Given the description of an element on the screen output the (x, y) to click on. 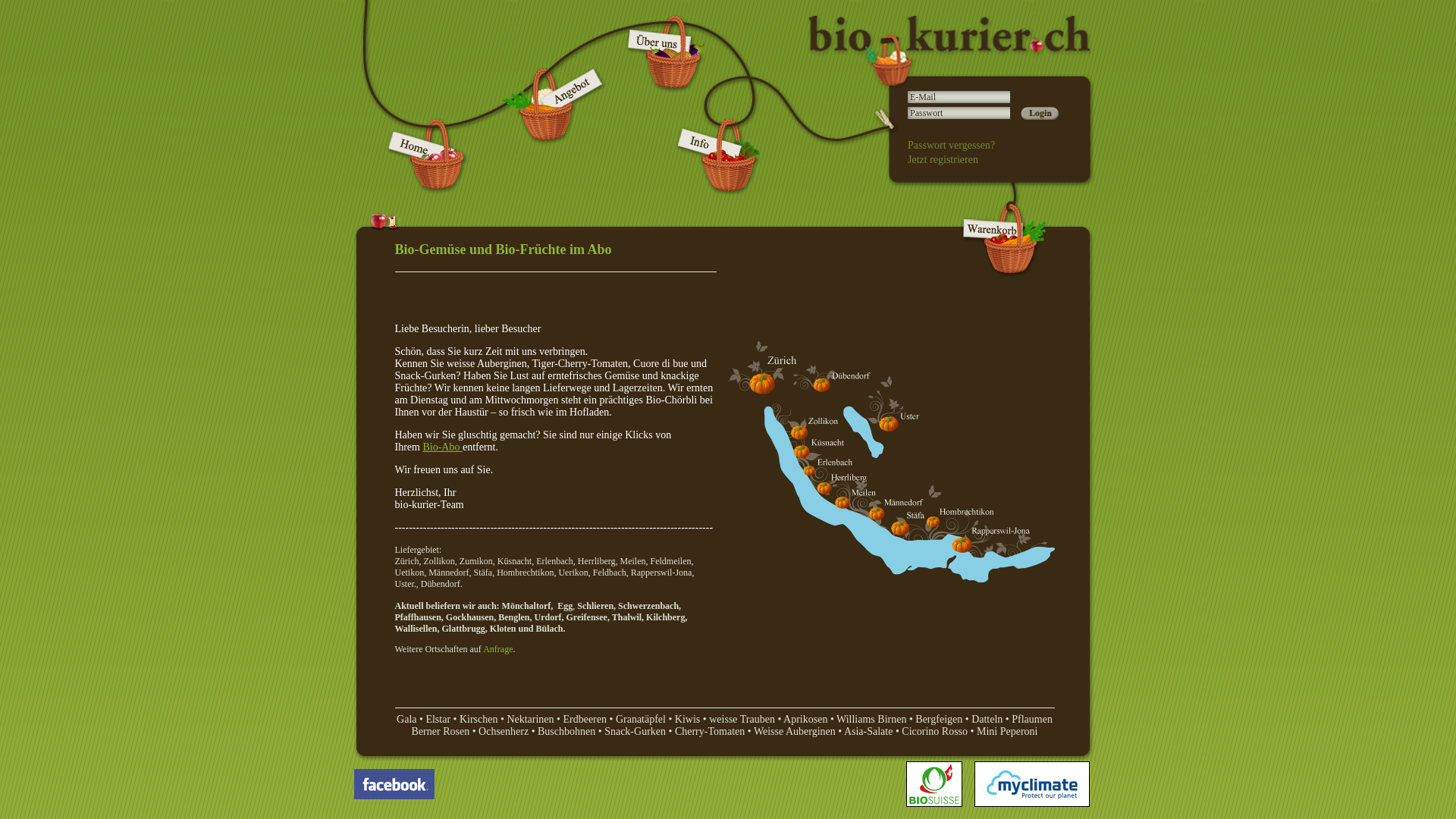
biokurier - Warenkorb Element type: hover (1005, 276)
My Climate Element type: hover (1037, 803)
Anfrage Element type: text (497, 648)
biokurier - Angebot Element type: hover (545, 192)
Biosuisse Element type: hover (940, 803)
biokurier - Info Element type: hover (718, 192)
 Bio-Abo  Element type: text (441, 446)
Login Element type: hover (1039, 112)
biokurier - Home Element type: hover (416, 192)
Passwort vergessen? Element type: text (950, 144)
Liefergebiet Biokurier Element type: hover (891, 461)
Jetzt registrieren Element type: text (942, 159)
